Given the description of an element on the screen output the (x, y) to click on. 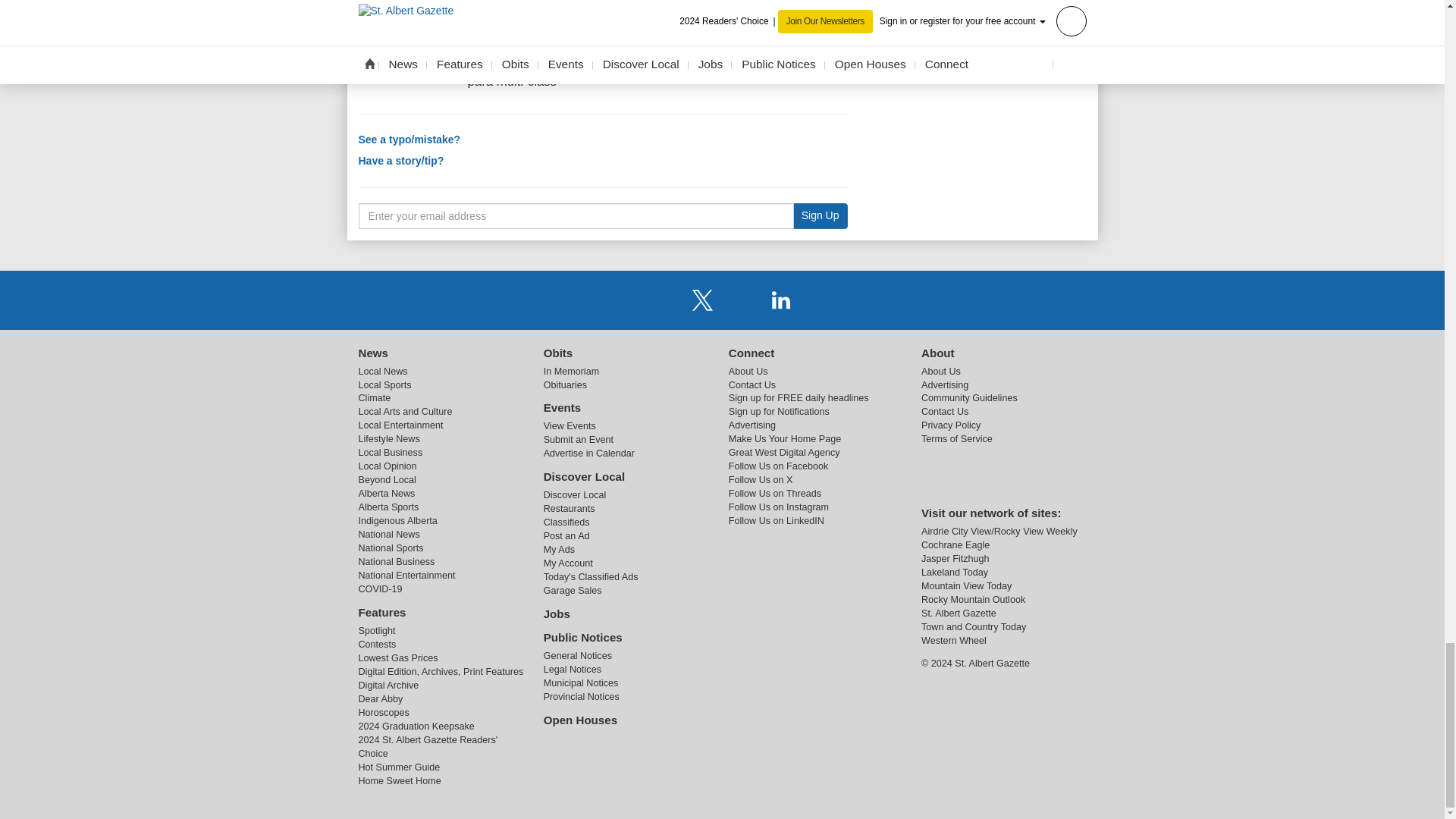
X (702, 299)
Facebook (663, 299)
Instagram (741, 299)
LinkedIn (780, 299)
